Given the description of an element on the screen output the (x, y) to click on. 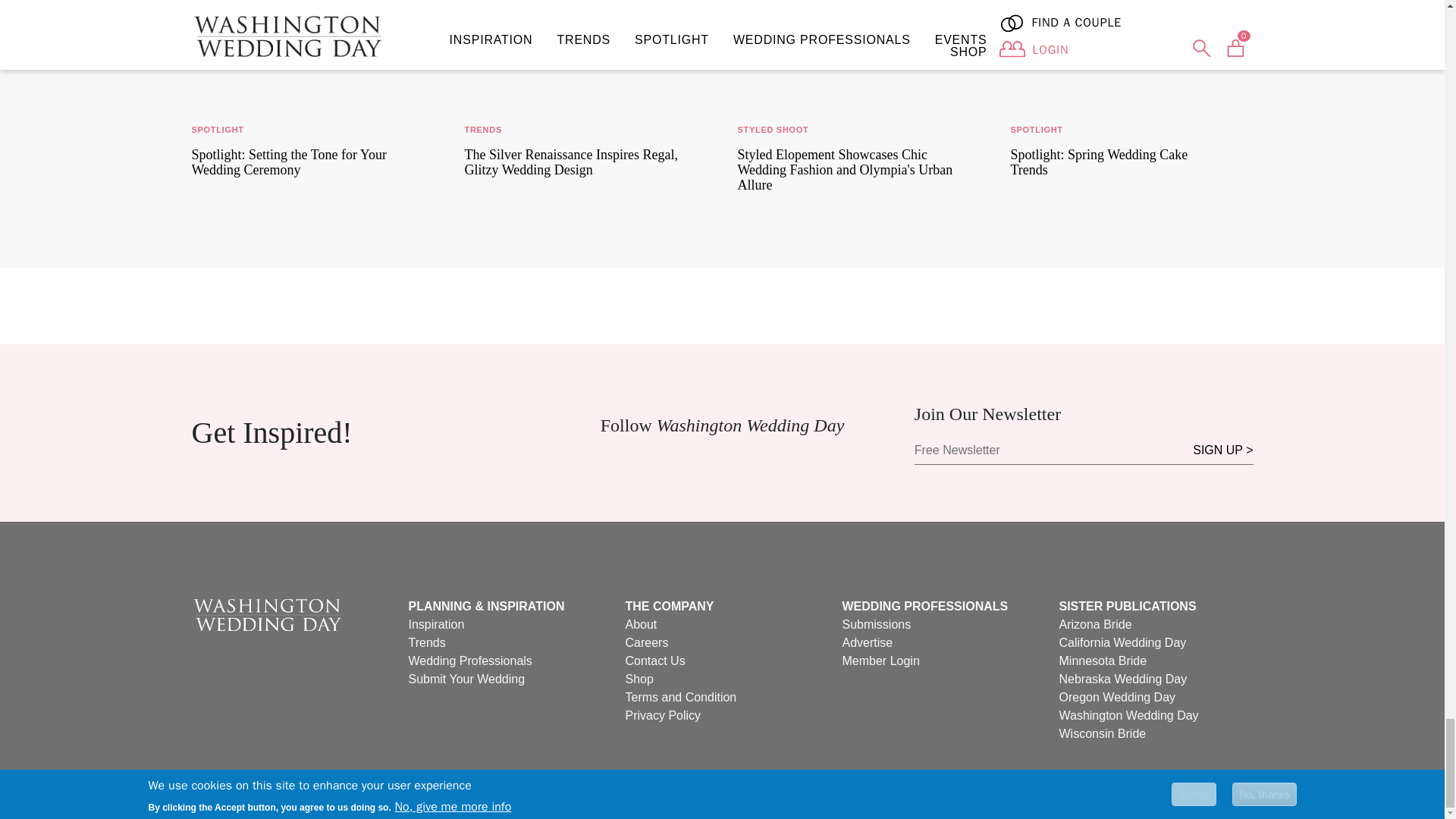
Lady Grey Cake Design (1131, 50)
Orange Turtle Photography (311, 50)
